Given the description of an element on the screen output the (x, y) to click on. 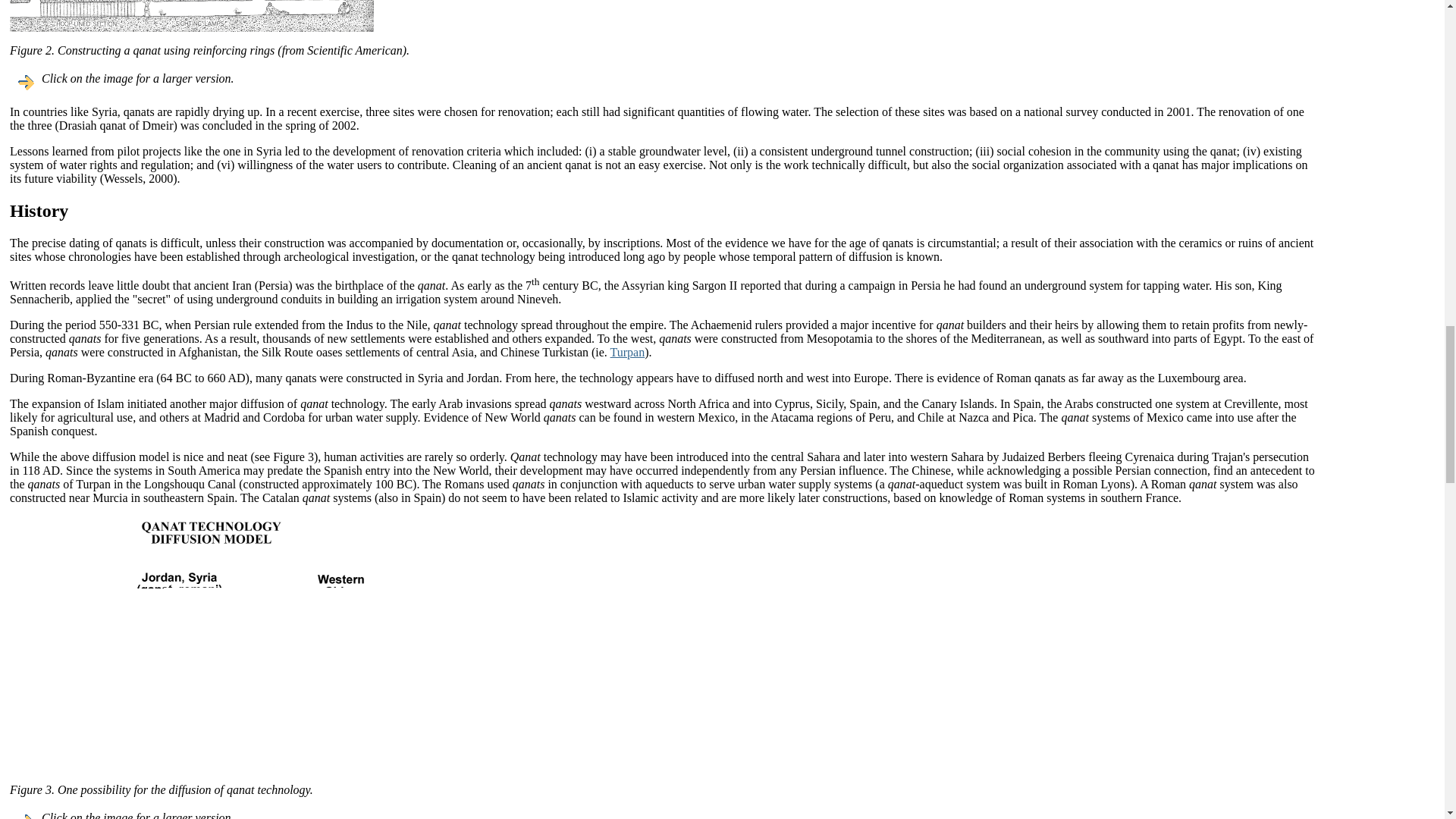
Turpan (627, 351)
